Given the description of an element on the screen output the (x, y) to click on. 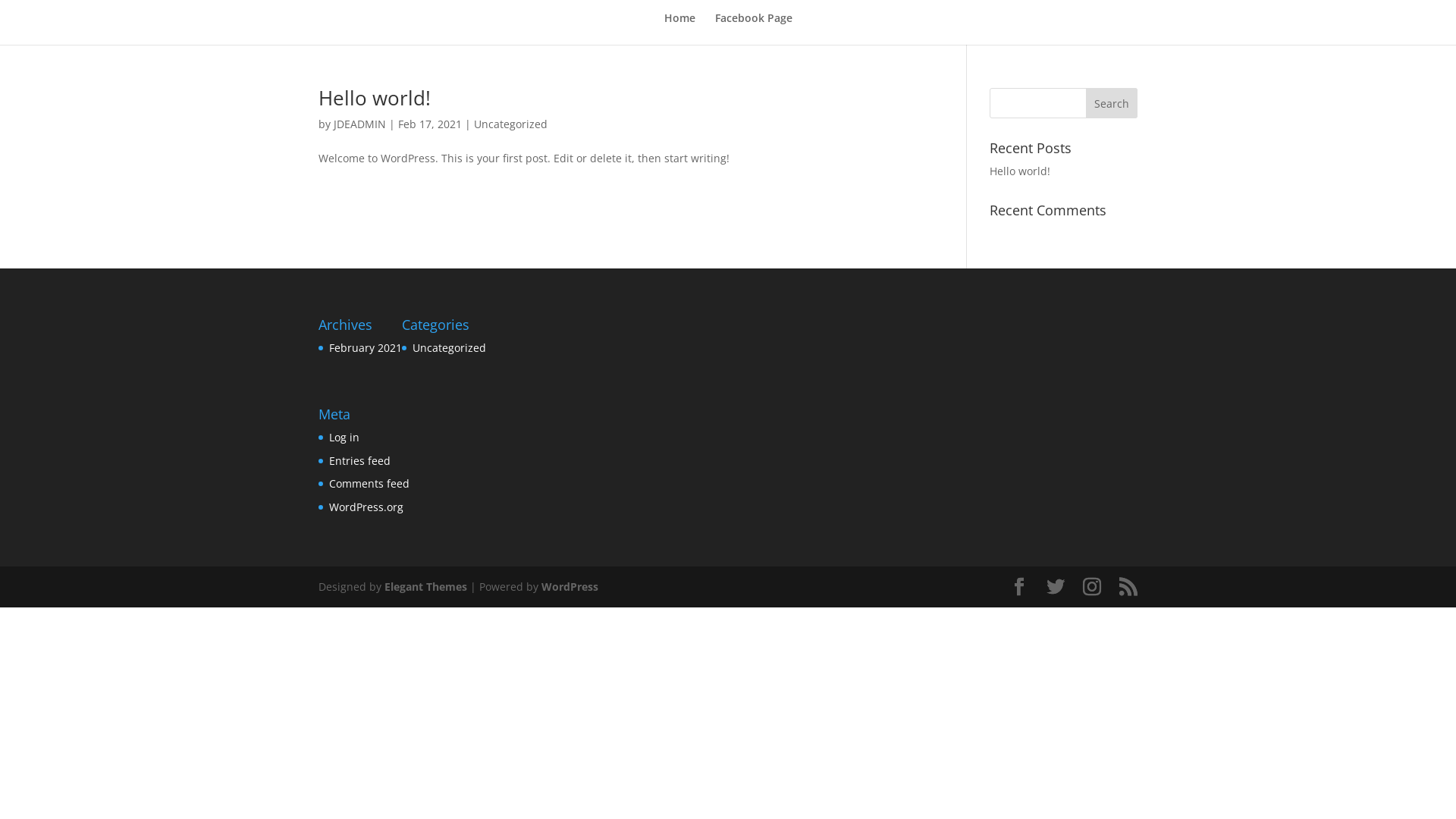
Facebook Page Element type: text (752, 28)
Search Element type: text (1111, 102)
February 2021 Element type: text (365, 347)
Entries feed Element type: text (359, 460)
Uncategorized Element type: text (510, 123)
Elegant Themes Element type: text (425, 586)
Uncategorized Element type: text (449, 347)
Log in Element type: text (344, 436)
Hello world! Element type: text (374, 97)
Home Element type: text (679, 28)
WordPress Element type: text (569, 586)
Comments feed Element type: text (369, 483)
WordPress.org Element type: text (366, 506)
JDEADMIN Element type: text (359, 123)
Hello world! Element type: text (1019, 170)
